Given the description of an element on the screen output the (x, y) to click on. 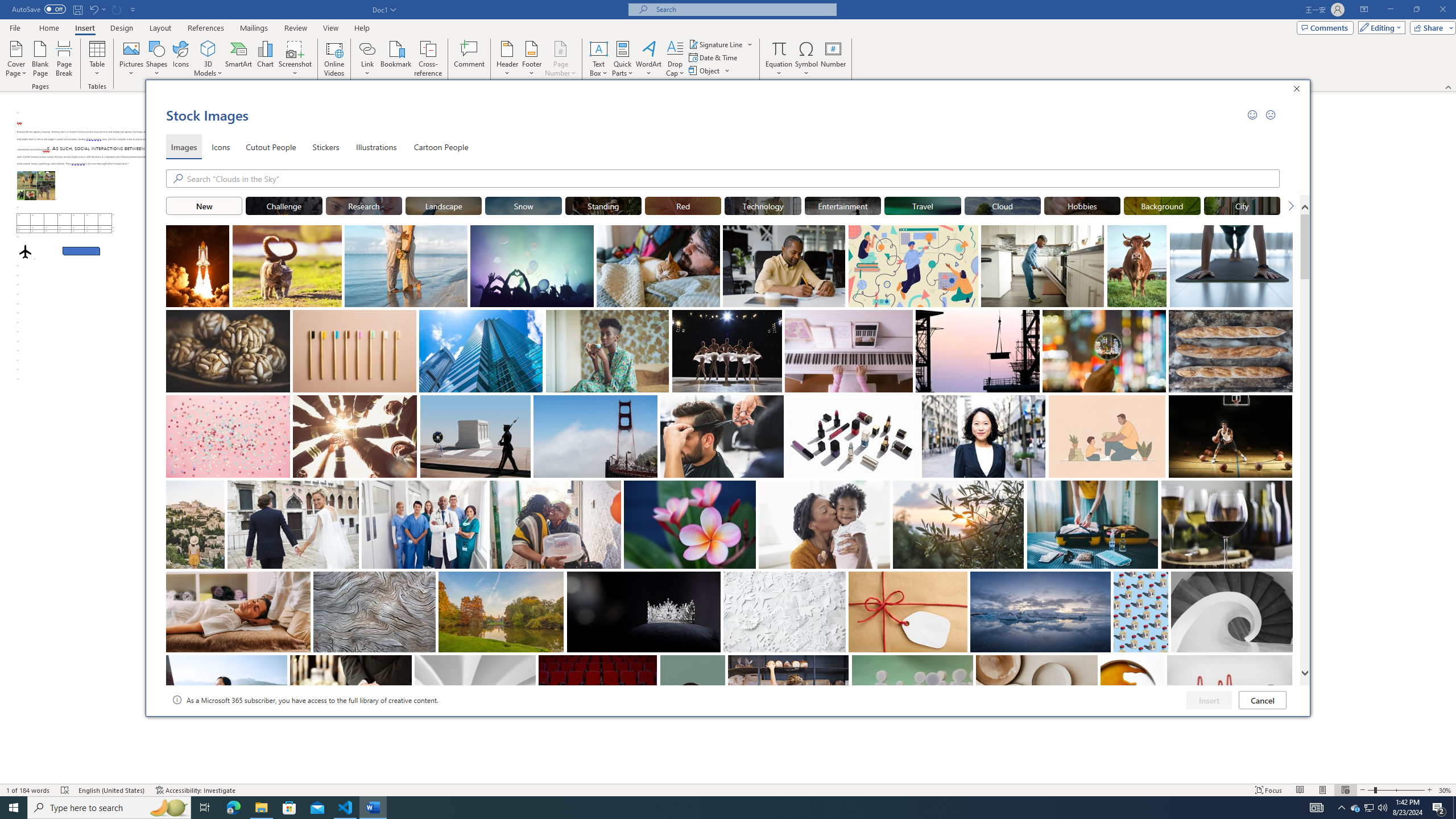
Focus  (1268, 790)
3D Models (208, 58)
Accessibility Checker Accessibility: Investigate (195, 790)
Bookmark... (396, 58)
Page Number (560, 58)
Page Break (63, 58)
Word Count 1 of 184 words (28, 790)
Ribbon Display Options (1364, 9)
Read Mode (1299, 790)
